Given the description of an element on the screen output the (x, y) to click on. 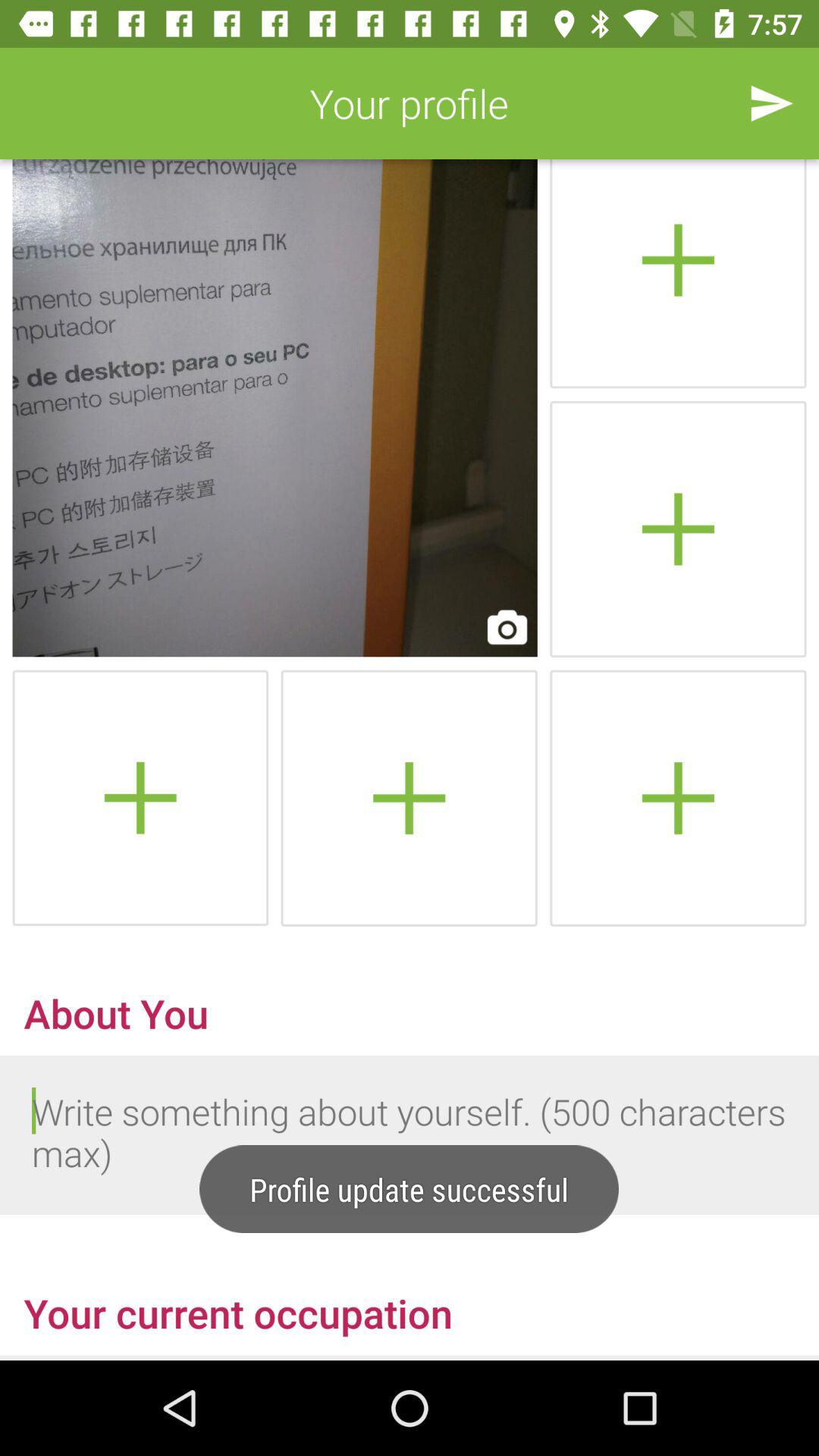
add profile pic (677, 797)
